Given the description of an element on the screen output the (x, y) to click on. 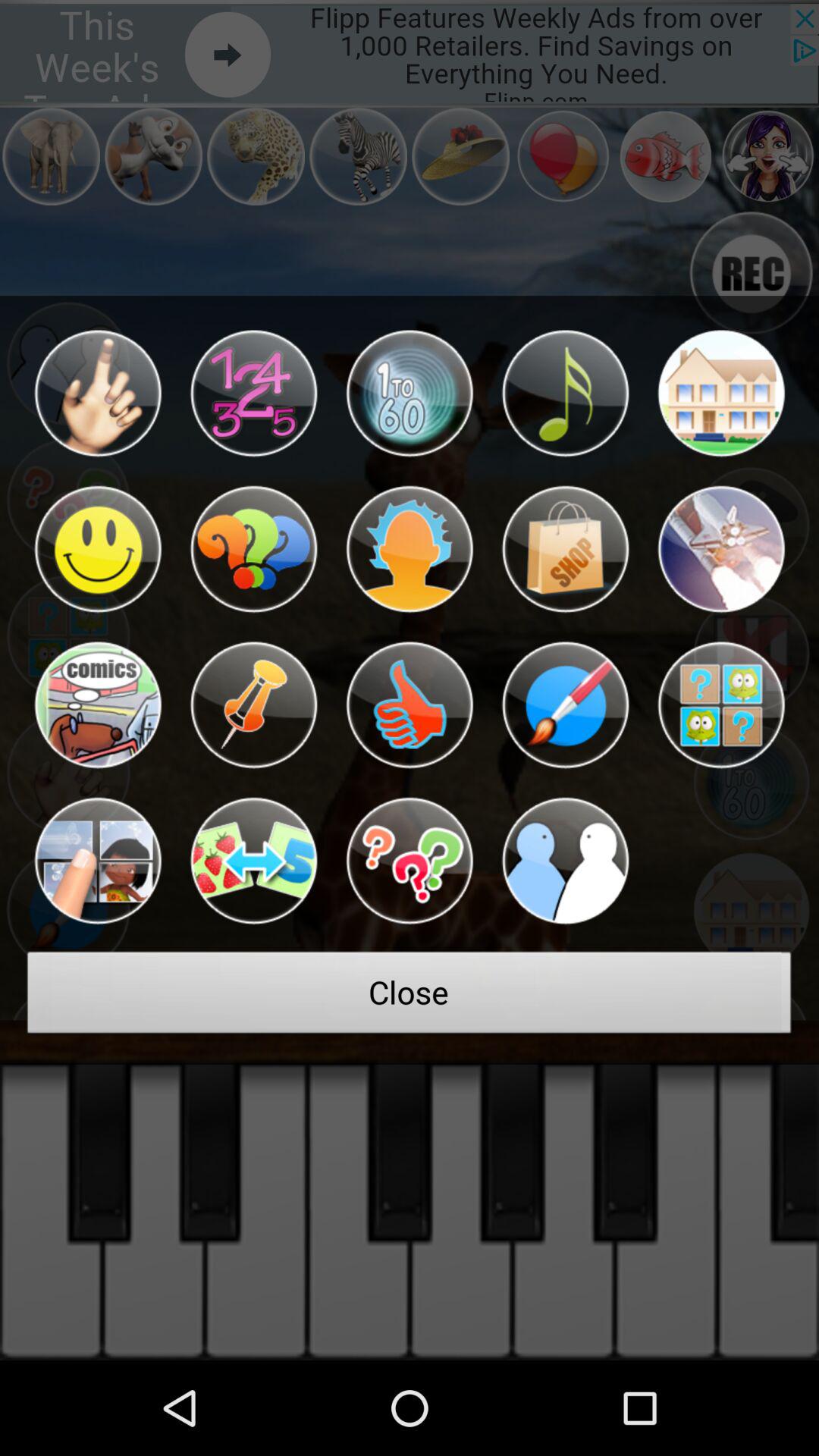
thumb game option (409, 705)
